Given the description of an element on the screen output the (x, y) to click on. 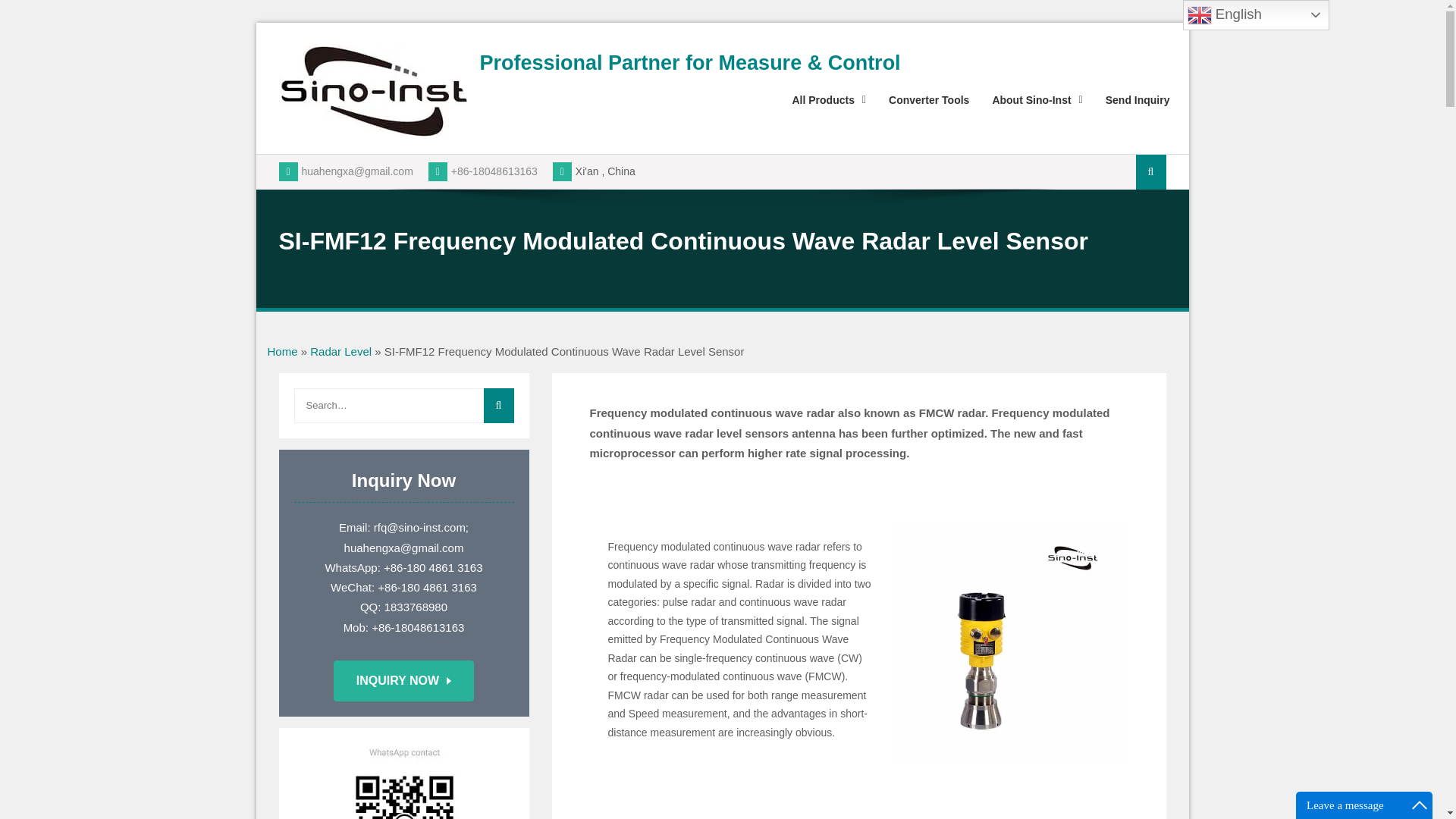
Search for: (1150, 171)
Maximize (1419, 805)
Search for: (403, 405)
